Given the description of an element on the screen output the (x, y) to click on. 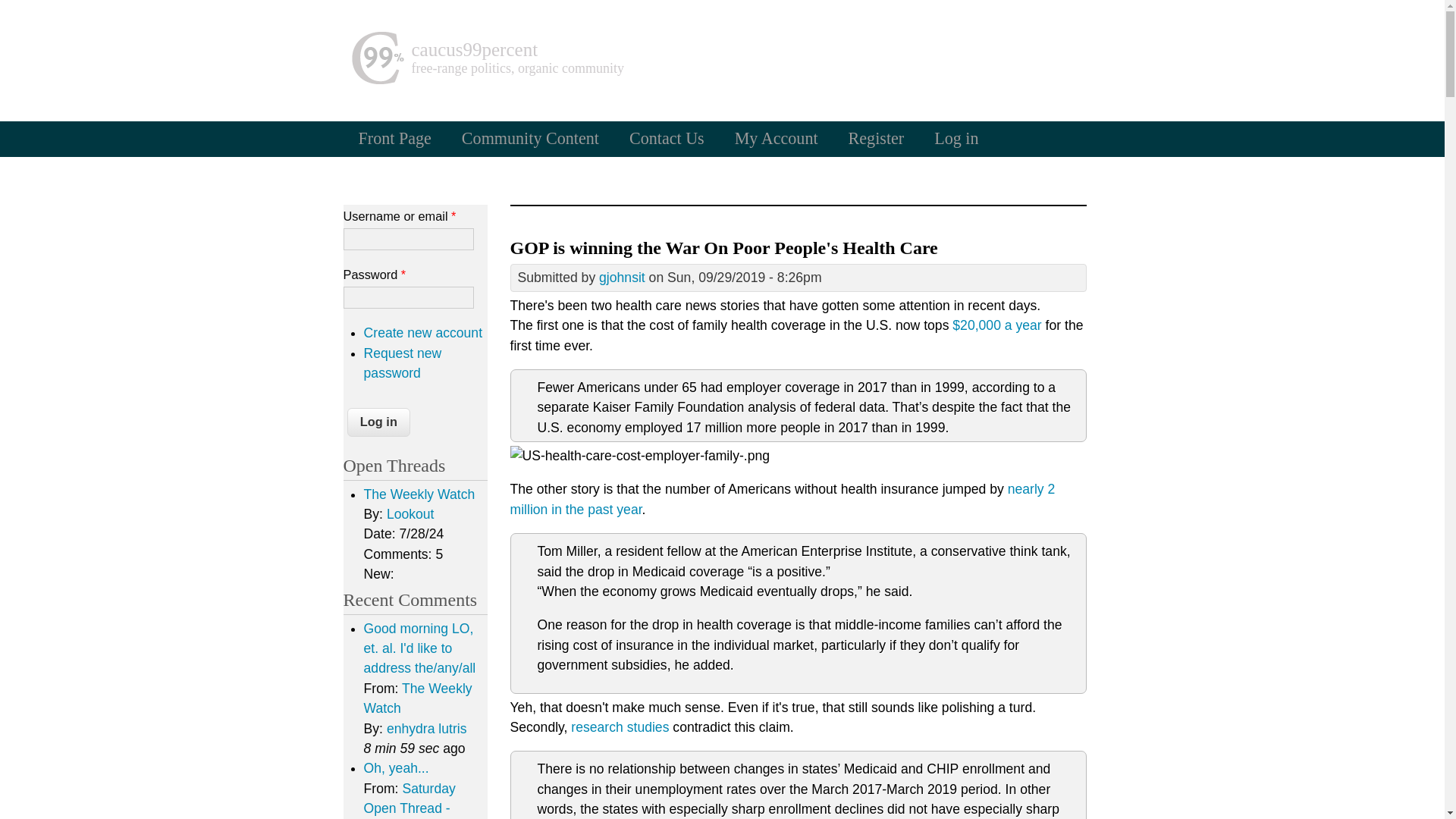
Front Page Featured Editorials (393, 138)
My Account (775, 138)
caucus99percent (473, 49)
Contact Us (666, 138)
Log in (955, 138)
Home (376, 79)
Register (876, 138)
My personal user account (775, 138)
Community Content (530, 138)
Home (473, 49)
Front Page (393, 138)
Log in (378, 421)
gjohnsit (621, 277)
nearly 2 million in the past year (781, 498)
research studies (619, 726)
